Given the description of an element on the screen output the (x, y) to click on. 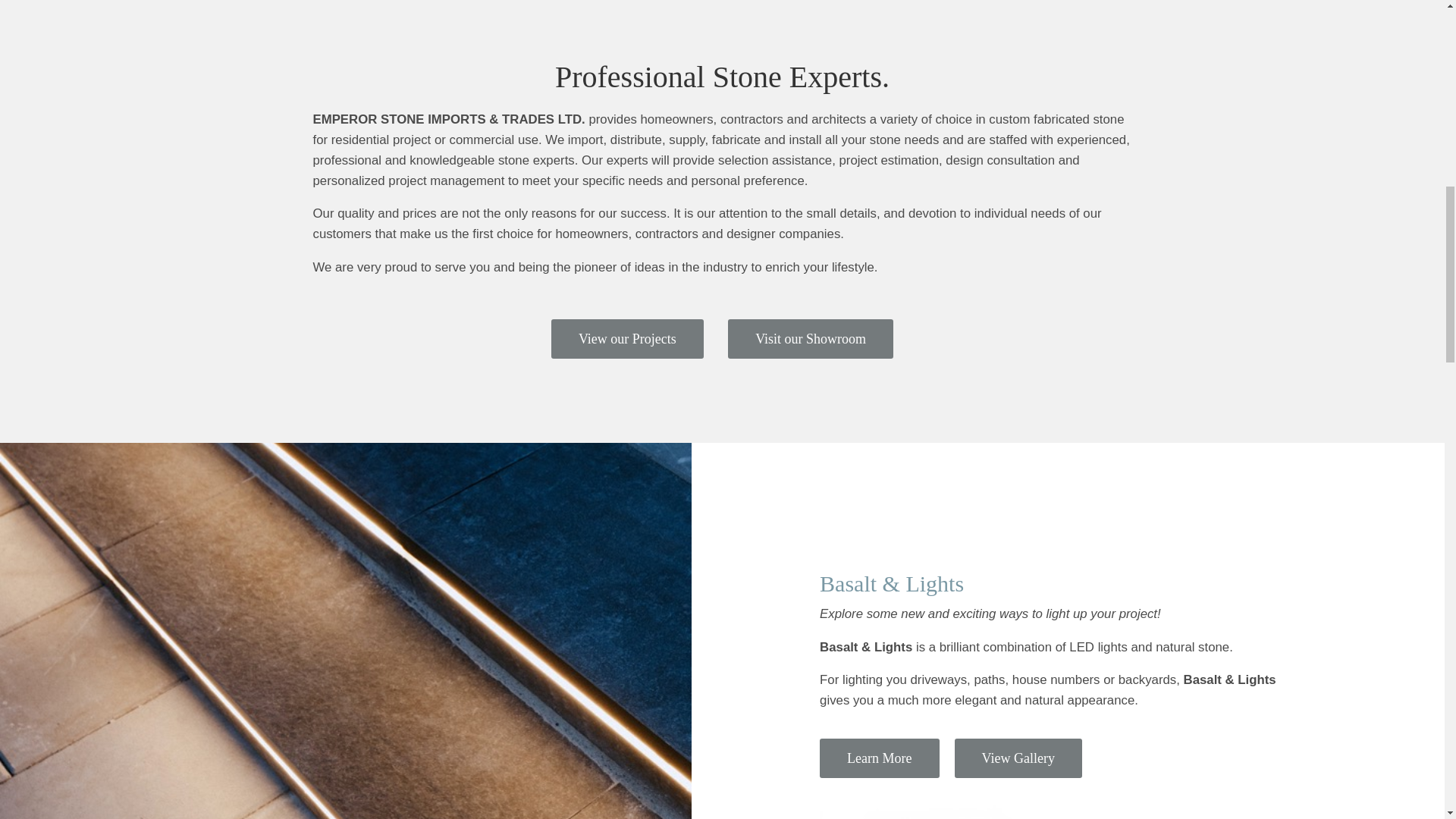
View our Projects (627, 338)
Visit our Showroom (810, 338)
View Gallery (1018, 758)
Learn More (879, 758)
